Given the description of an element on the screen output the (x, y) to click on. 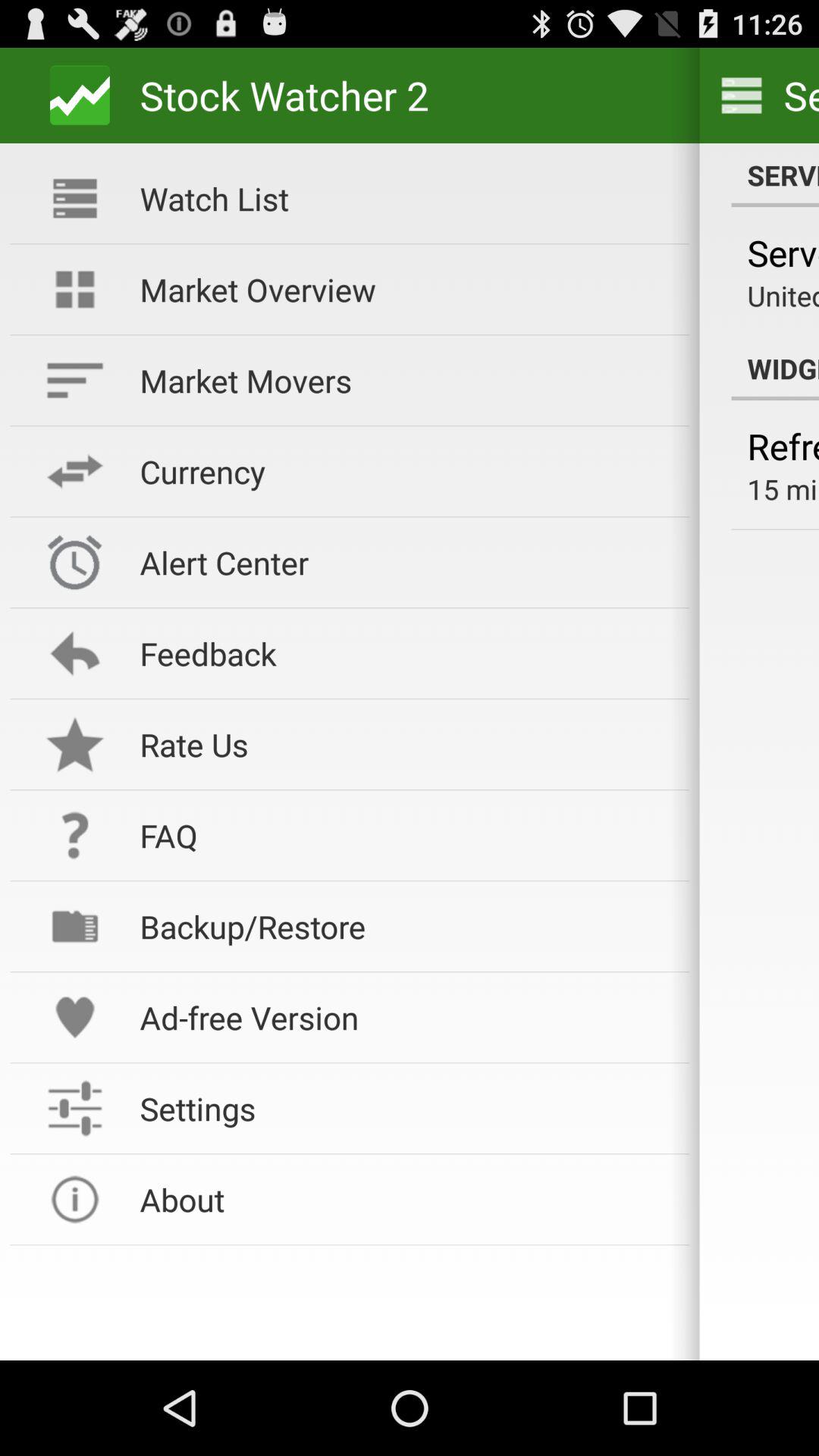
choose item next to market overview icon (783, 295)
